Given the description of an element on the screen output the (x, y) to click on. 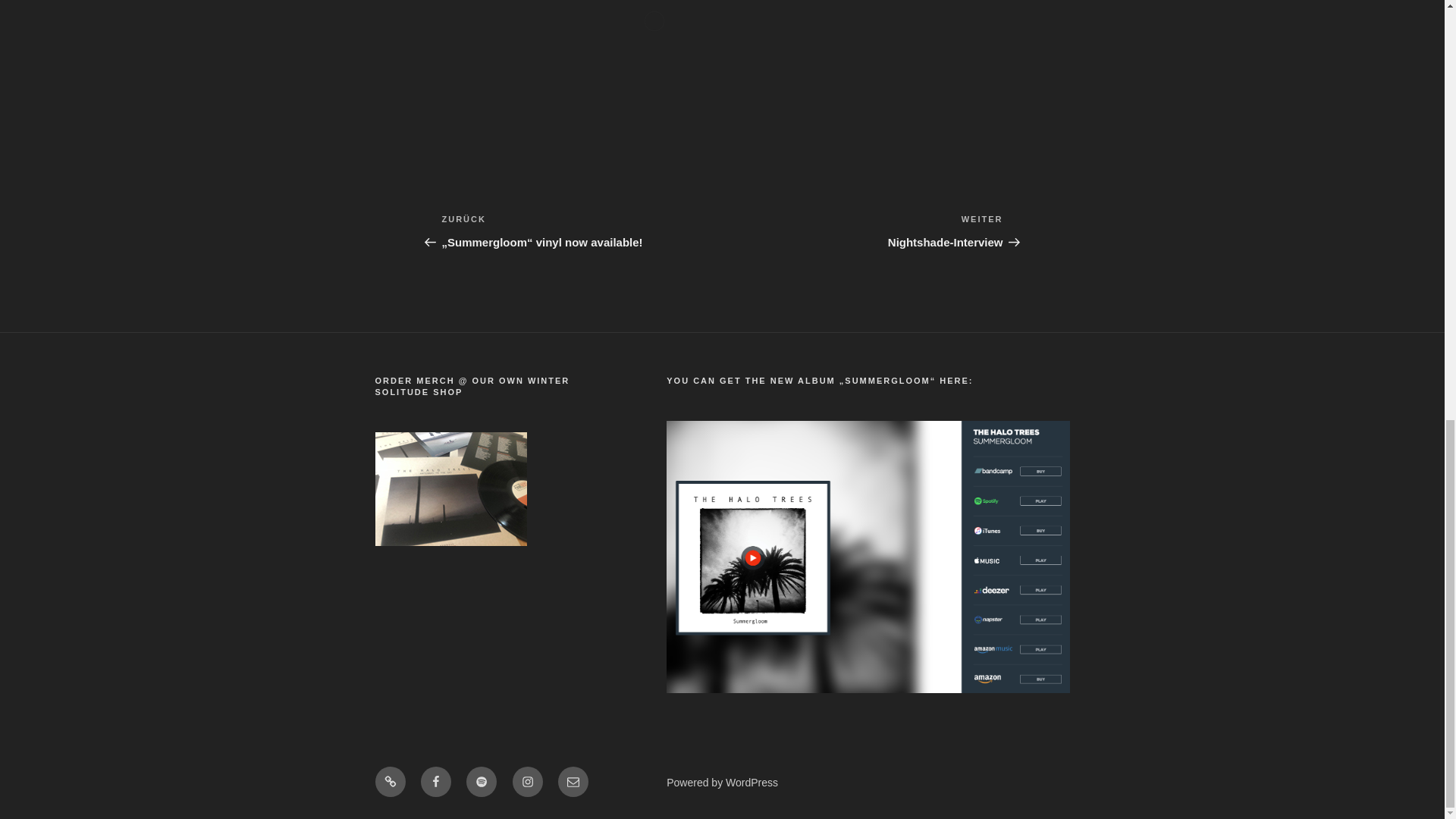
Facebook (435, 781)
Powered by WordPress (721, 782)
Spotify (480, 781)
E-Mail (572, 781)
Instagram (527, 781)
Bandcamp (389, 781)
YouTube video player (653, 70)
